Given the description of an element on the screen output the (x, y) to click on. 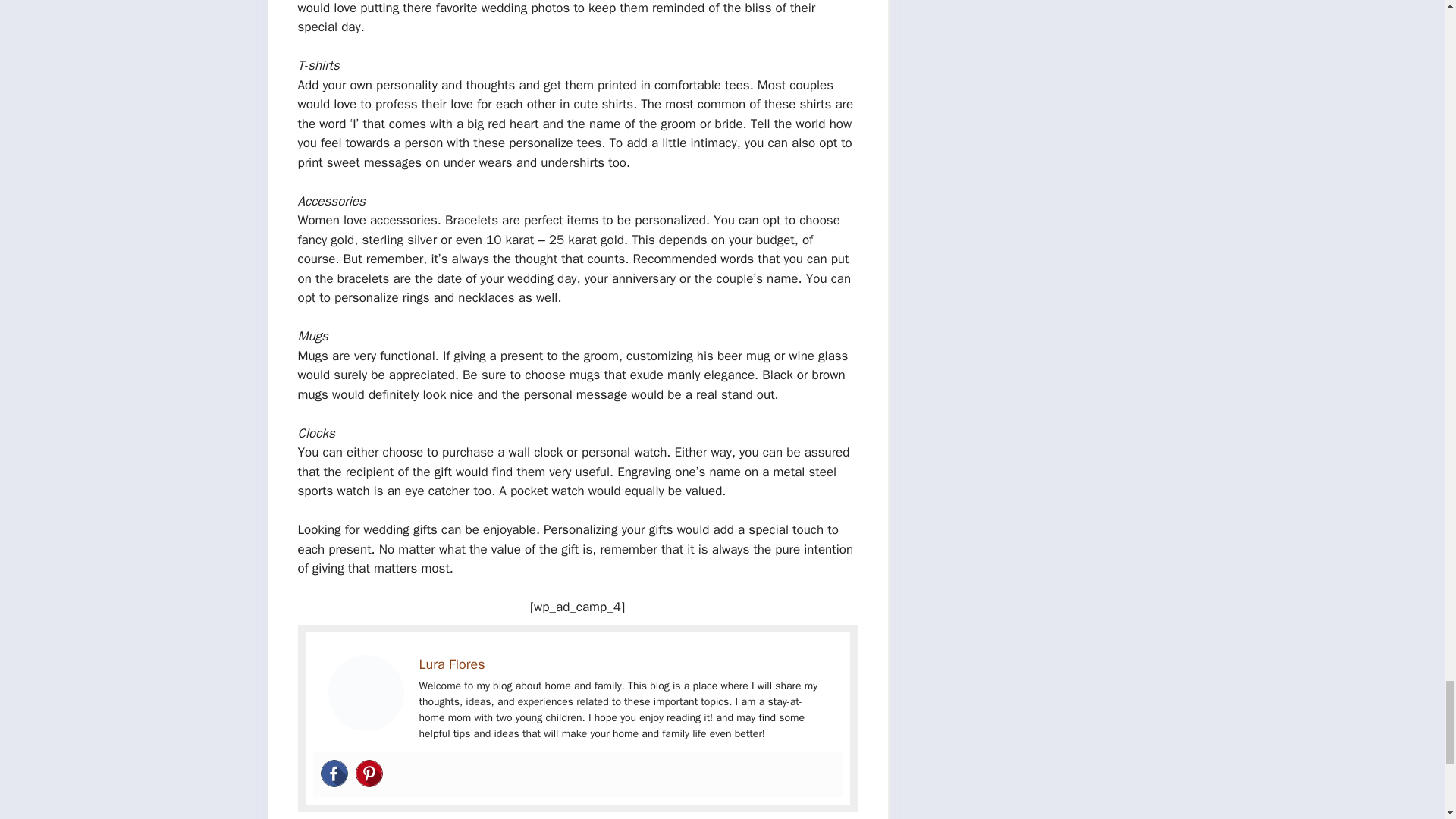
Wedding Ideas For Brides 3 (365, 693)
Facebook (333, 773)
Pinterest (368, 773)
